Given the description of an element on the screen output the (x, y) to click on. 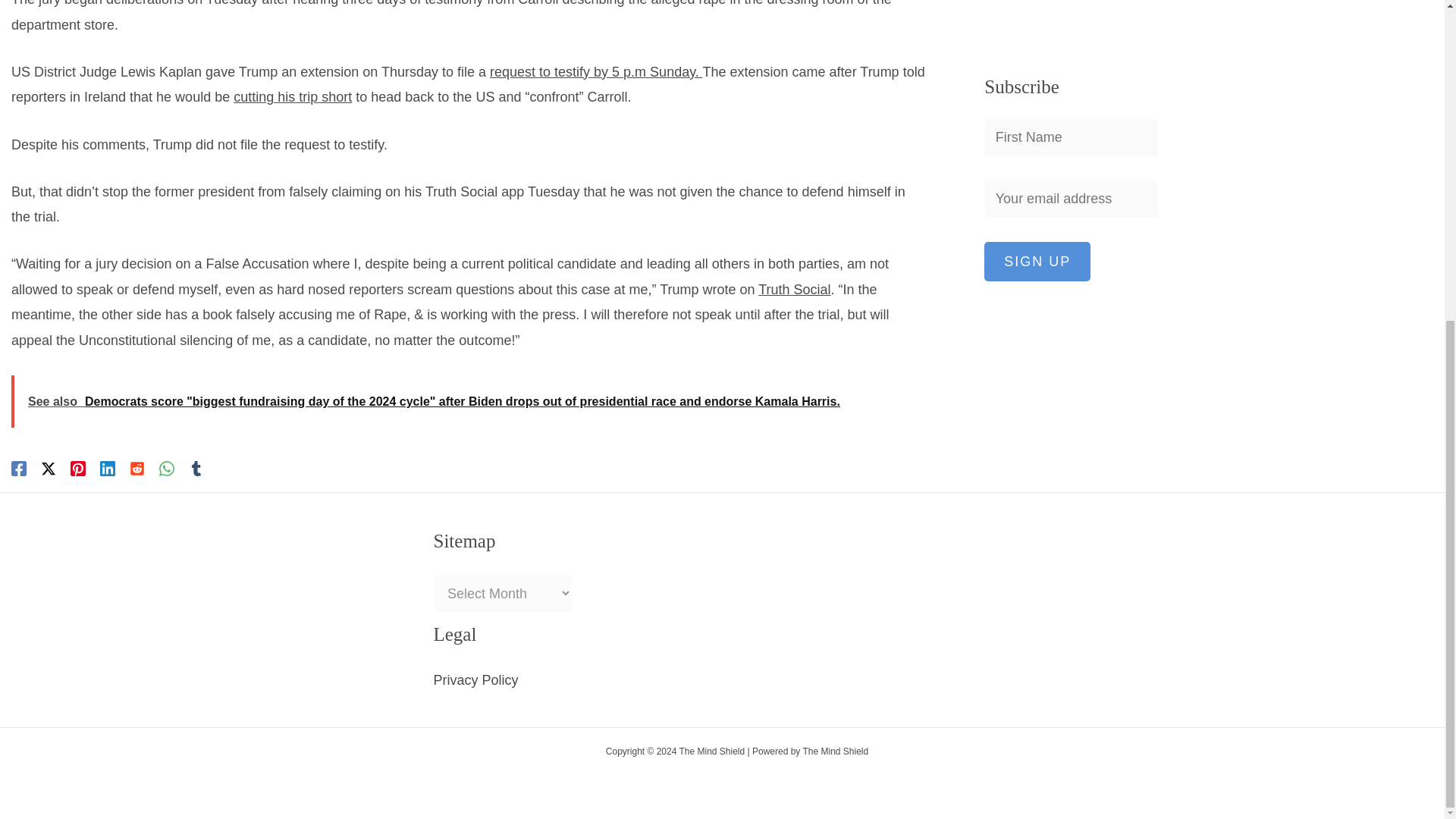
cutting his trip short (292, 96)
Truth Social (793, 289)
request to testify by 5 p.m Sunday. (596, 71)
